Given the description of an element on the screen output the (x, y) to click on. 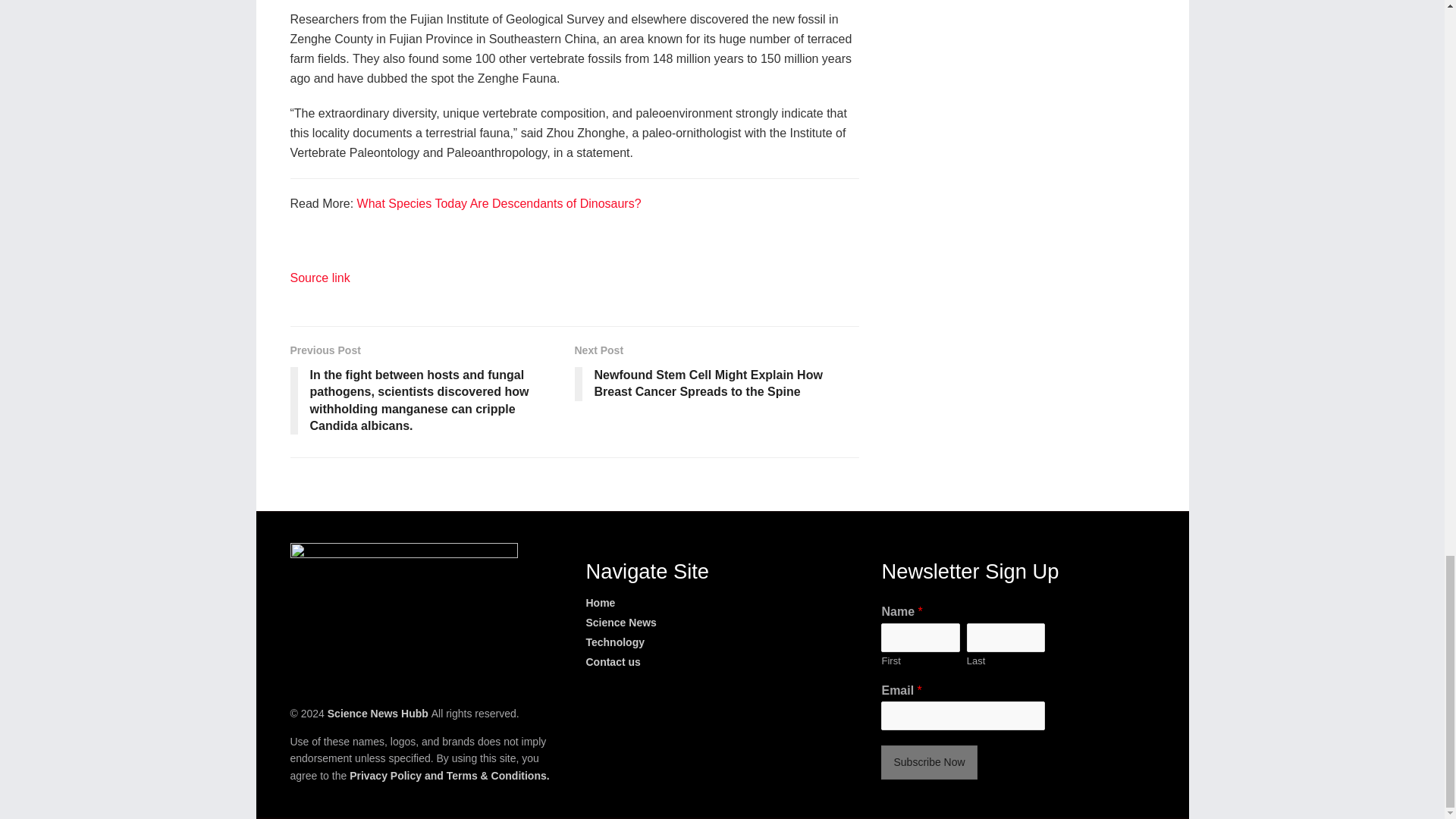
science-26 (402, 612)
What Species Today Are Descendants of Dinosaurs? (499, 203)
Source link (319, 277)
